Given the description of an element on the screen output the (x, y) to click on. 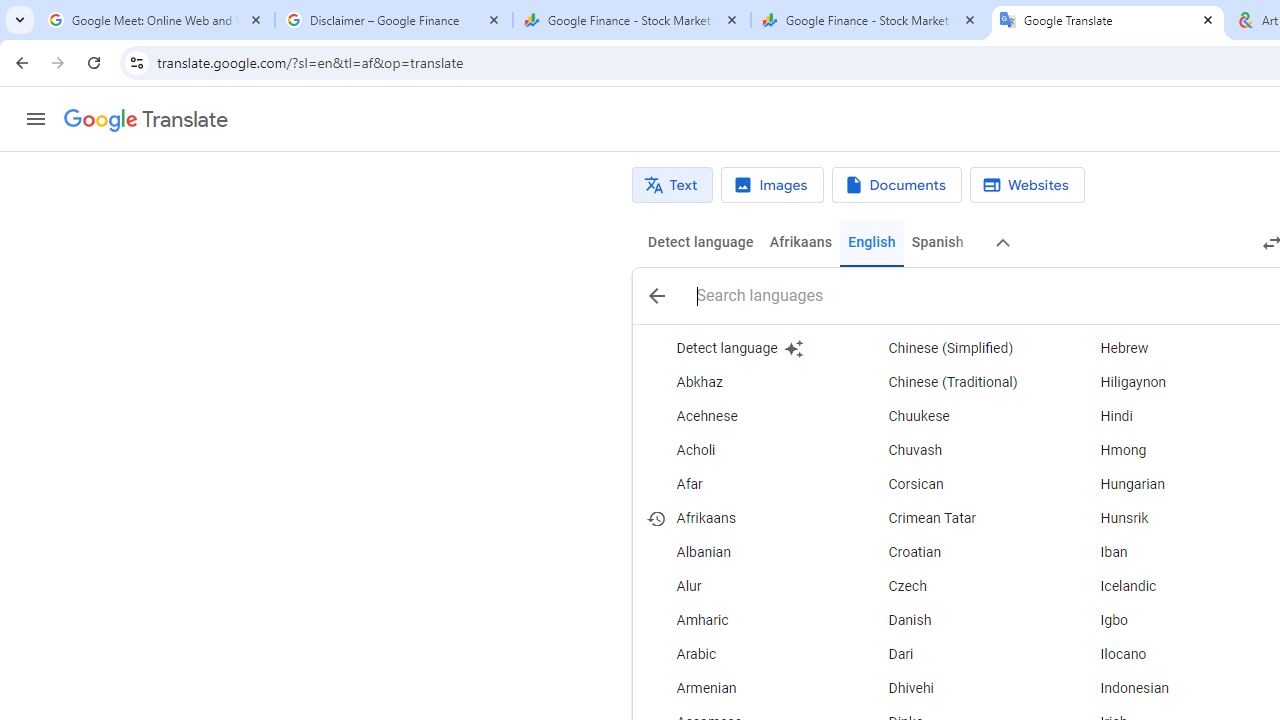
Iban (1168, 552)
Chinese (Simplified) (957, 348)
Icelandic (1168, 586)
Amharic (745, 620)
Danish (957, 620)
Igbo (1168, 620)
Dari (957, 655)
Arabic (745, 655)
Hunsrik (1168, 518)
Hmong (1168, 450)
Dhivehi (957, 688)
Close search (656, 295)
